Given the description of an element on the screen output the (x, y) to click on. 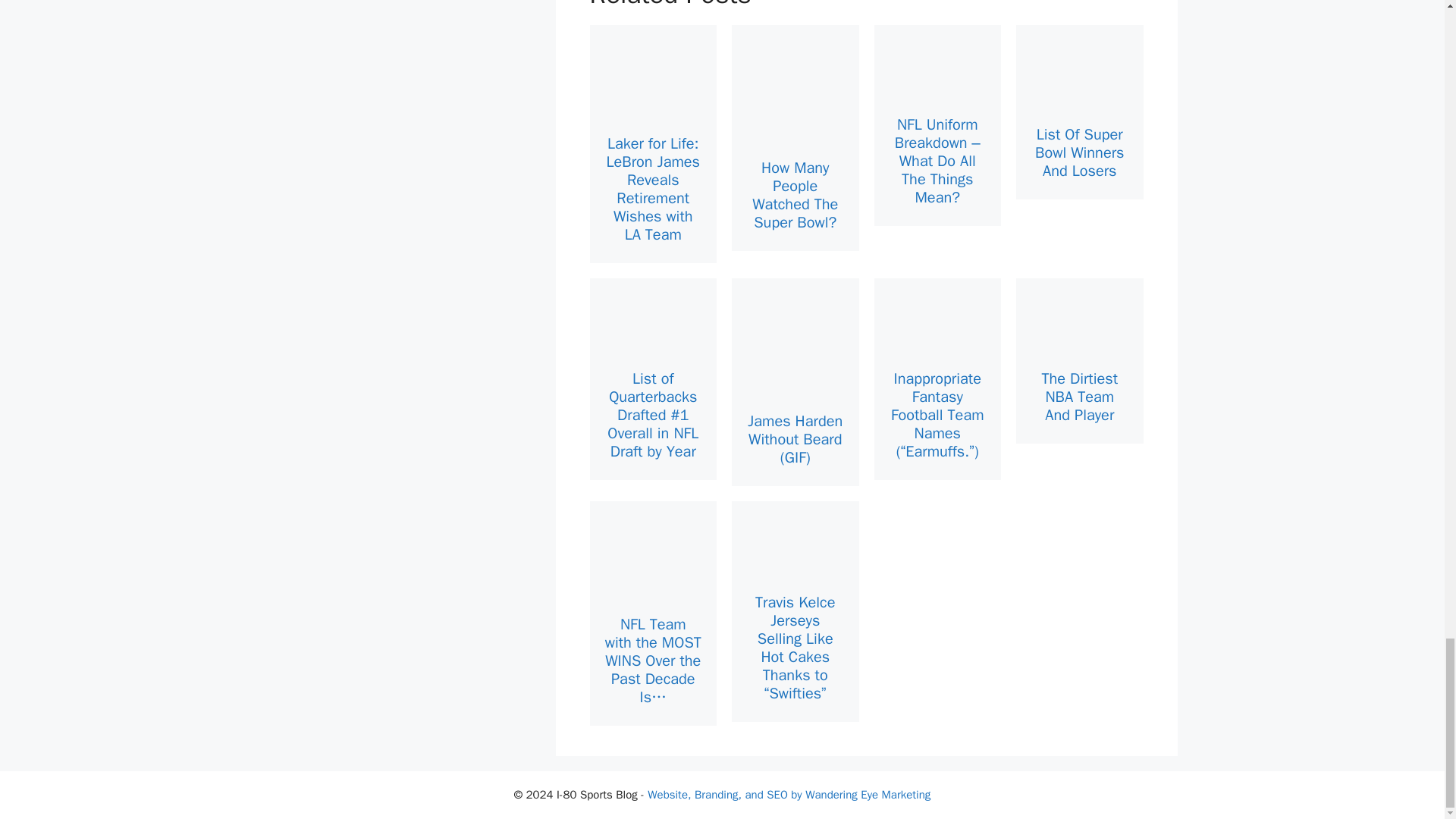
How Many People Watched The Super Bowl? (795, 194)
